Given the description of an element on the screen output the (x, y) to click on. 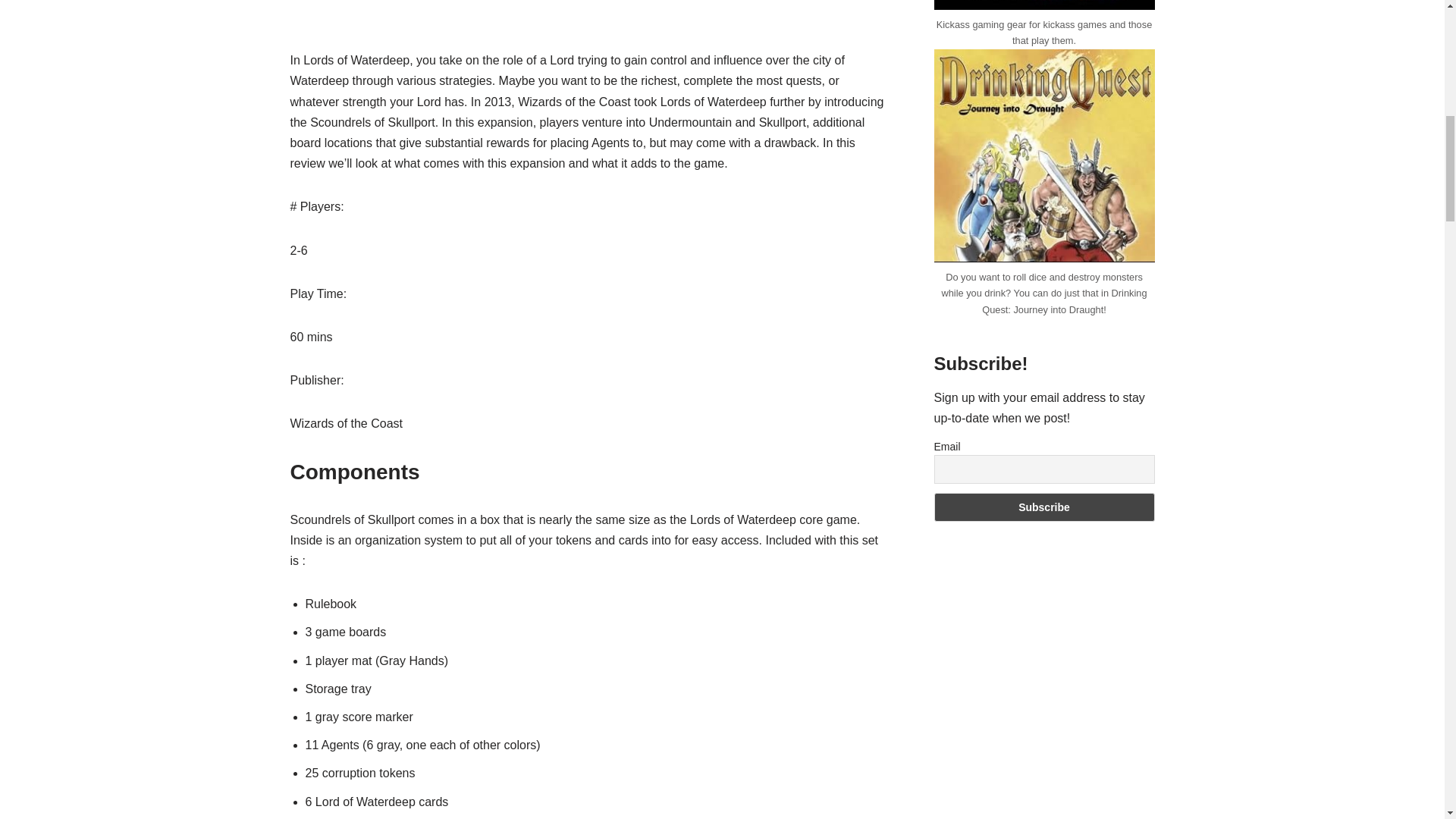
Subscribe (1044, 507)
